Given the description of an element on the screen output the (x, y) to click on. 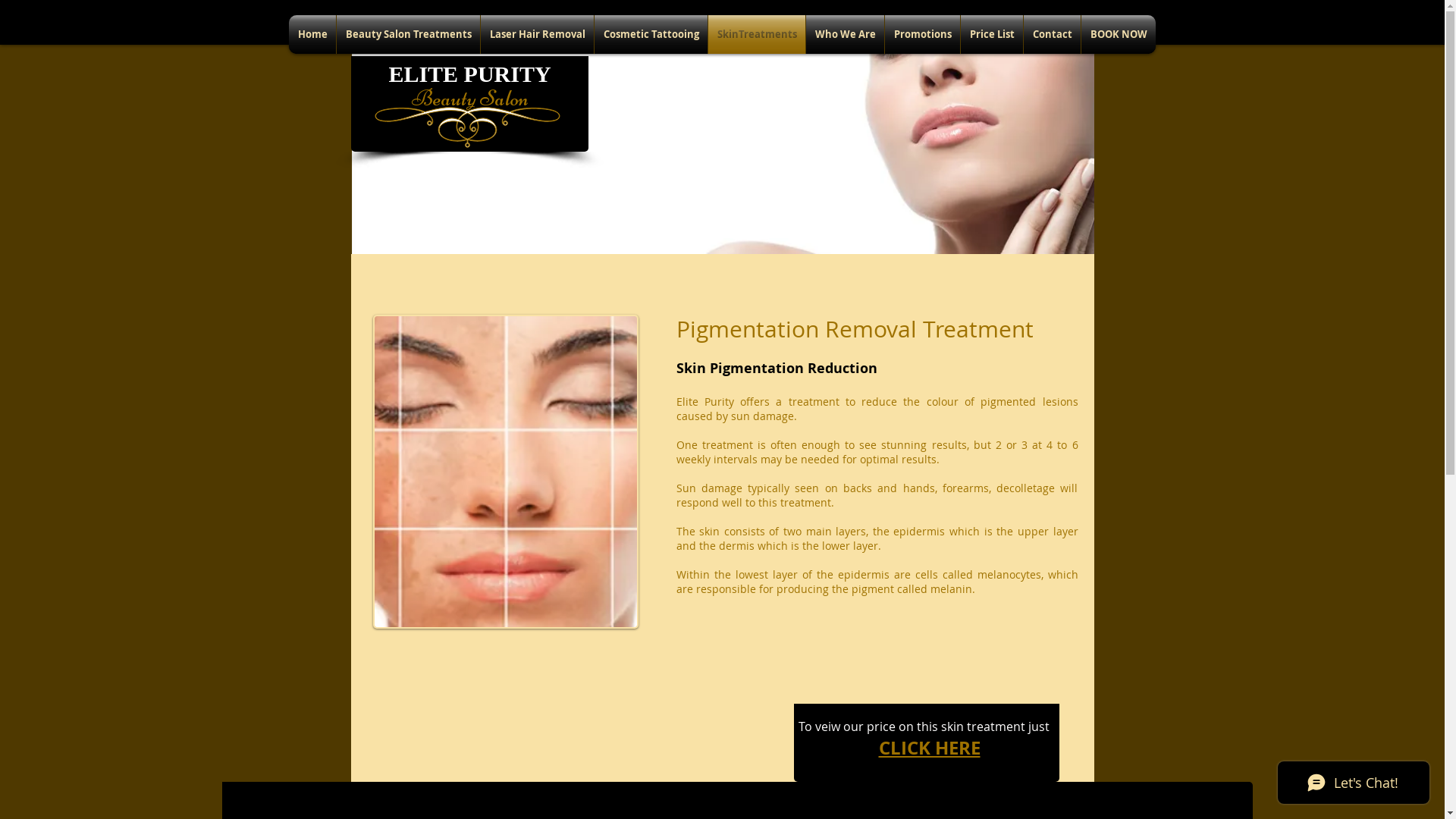
Laser Hair Removal Element type: text (536, 34)
Who We Are Element type: text (845, 34)
SkinTreatments Element type: text (756, 34)
Cosmetic Tattooing Element type: text (650, 34)
Price List Element type: text (991, 34)
Contact Element type: text (1051, 34)
Home Element type: text (311, 34)
Beauty Salon Treatments Element type: text (408, 34)
BOOK NOW Element type: text (1118, 34)
CLICK HERE Element type: text (928, 747)
pigmentation-removal.jpg Element type: hover (505, 471)
Promotions Element type: text (922, 34)
